Given the description of an element on the screen output the (x, y) to click on. 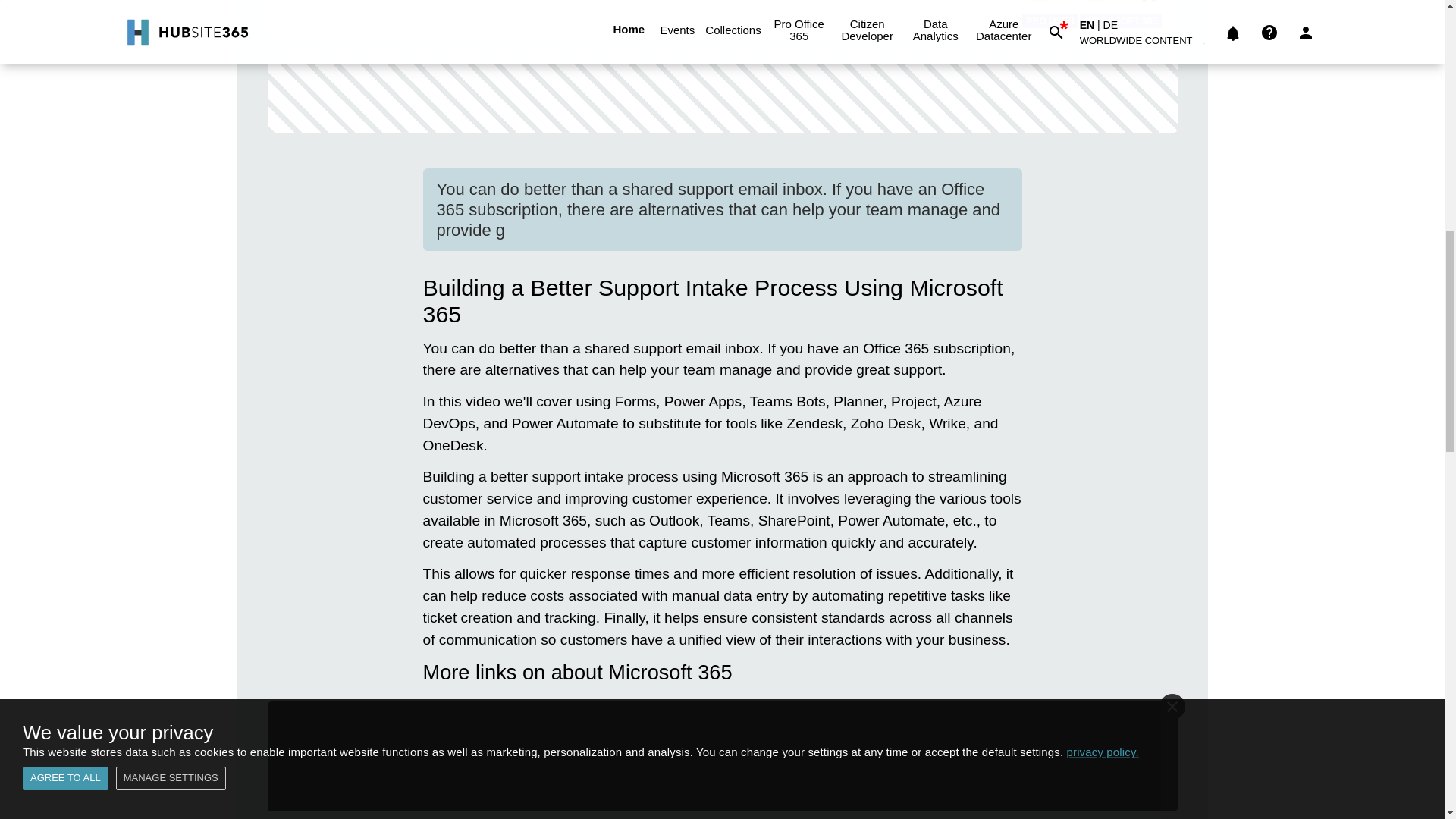
Get started with Microsoft 365 for healthcare organizations (640, 795)
3rd party ad content (721, 90)
